Given the description of an element on the screen output the (x, y) to click on. 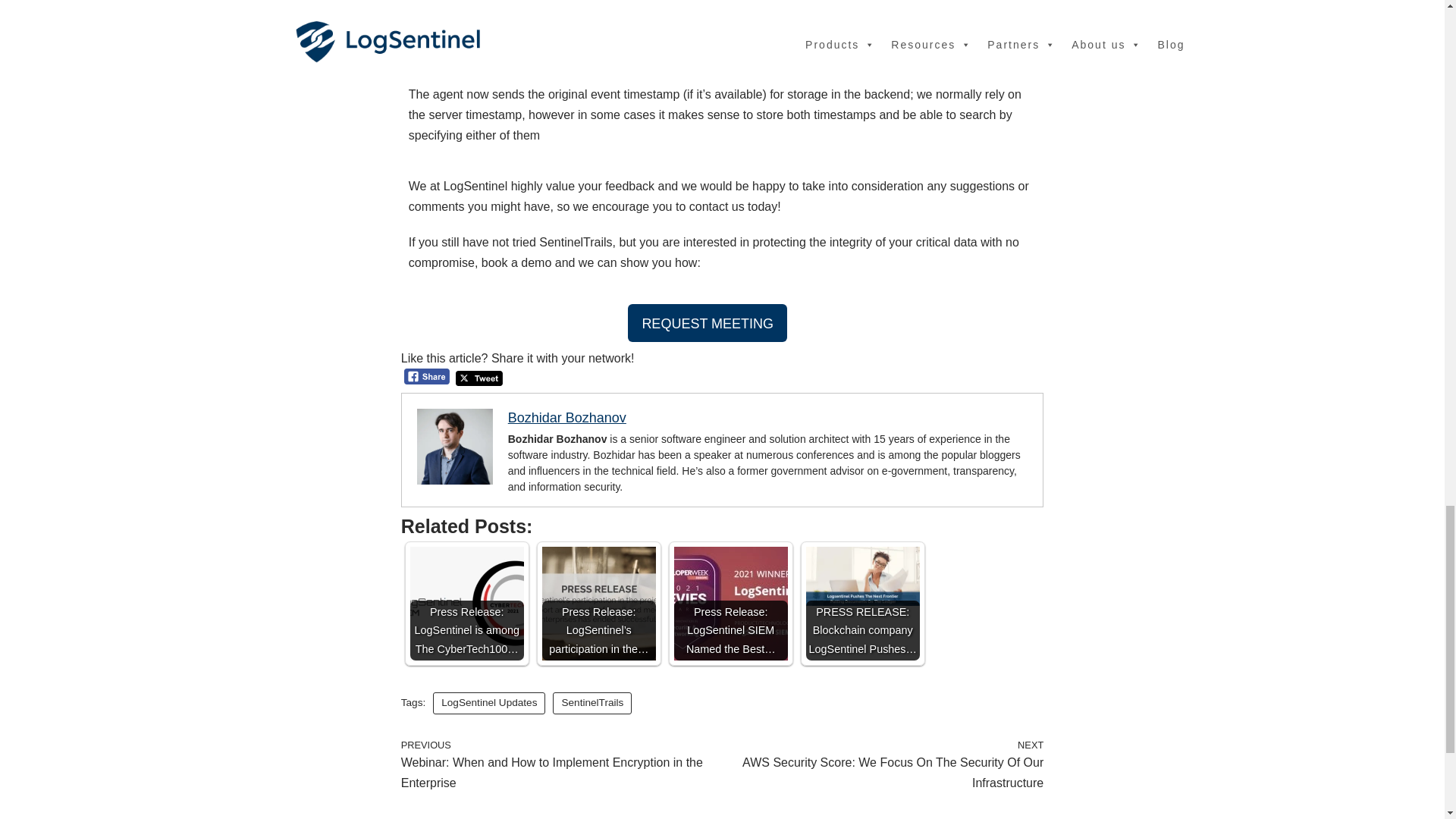
Tweet (478, 378)
SentinelTrails (592, 703)
REQUEST MEETING (707, 322)
Facebook Share (426, 376)
LogSentinel Updates (488, 703)
